Given the description of an element on the screen output the (x, y) to click on. 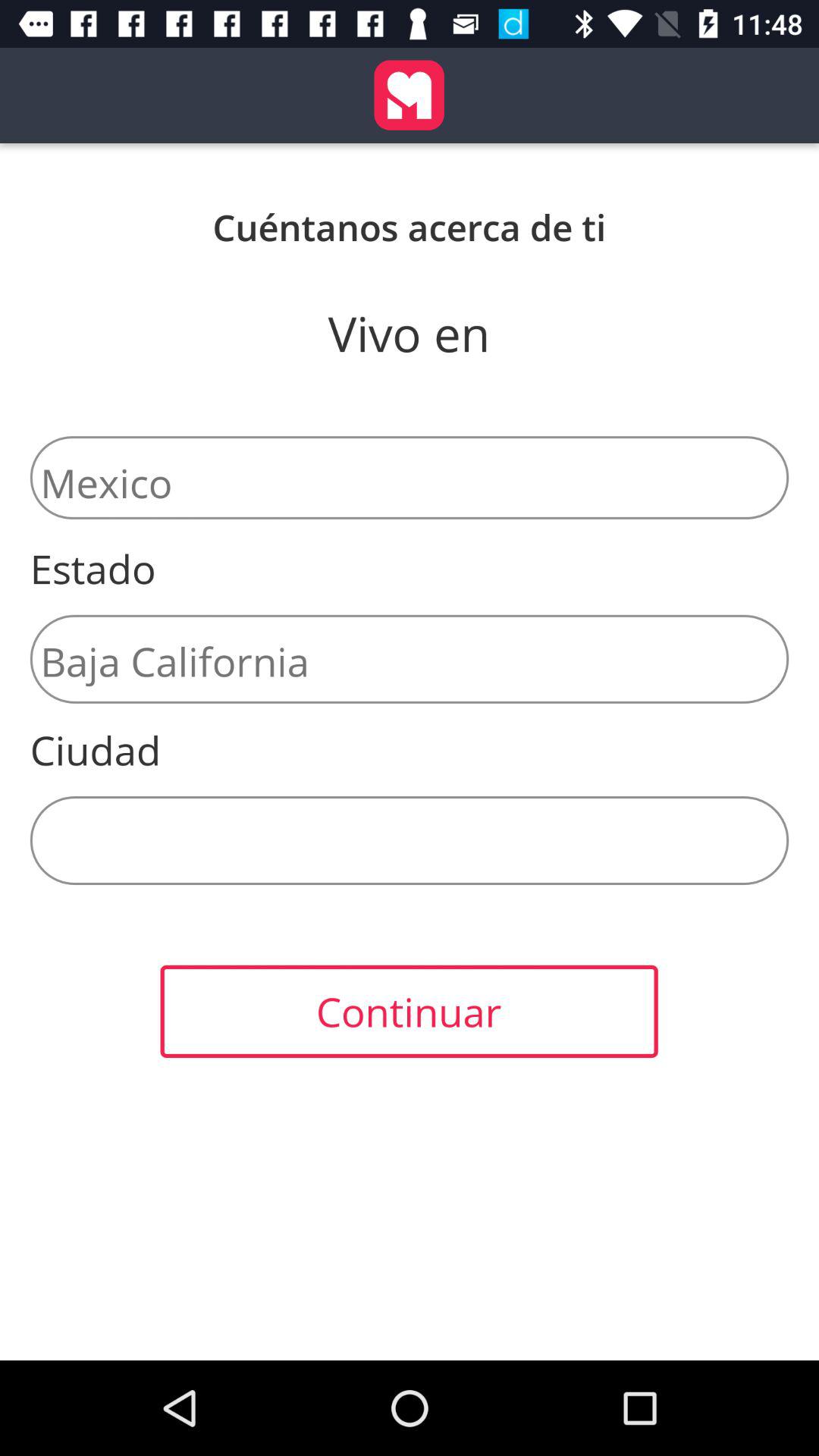
select the item below estado item (409, 658)
